Given the description of an element on the screen output the (x, y) to click on. 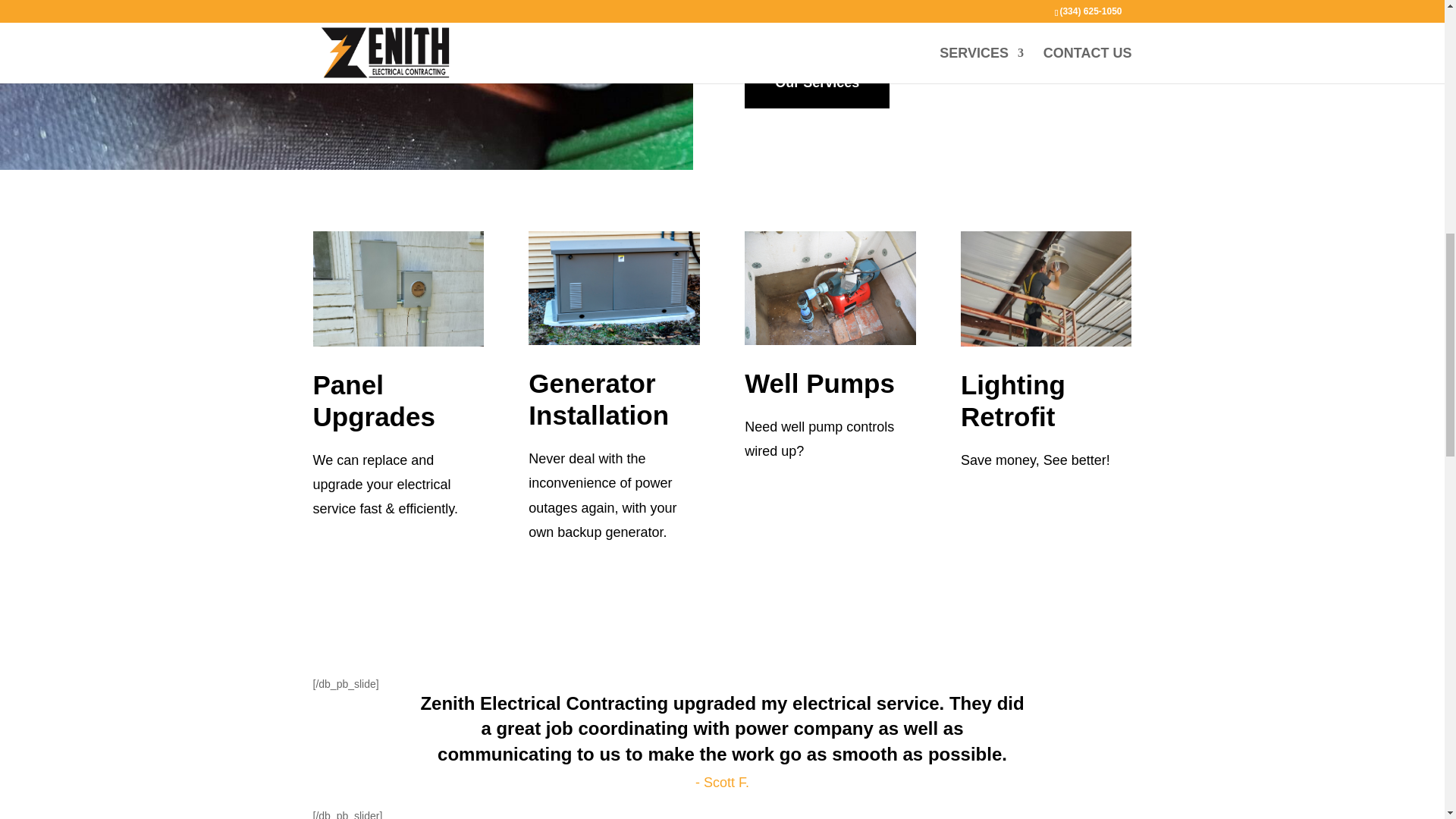
electrical panel upgrades prattville al (398, 288)
Our Services (816, 82)
lighting retrofit montgomeryjpg (1045, 288)
Residential Generator (613, 287)
